Given the description of an element on the screen output the (x, y) to click on. 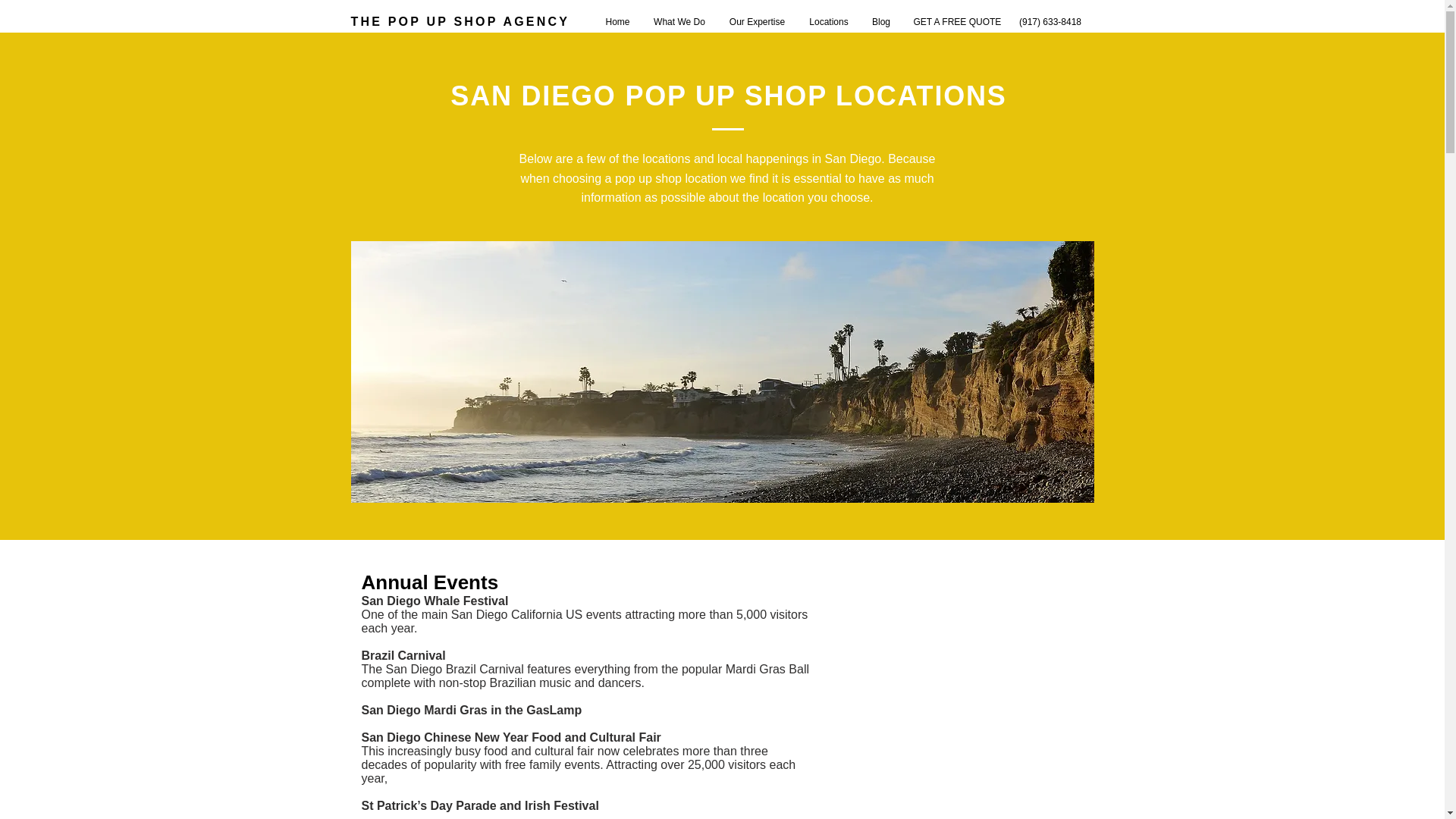
Our Expertise (757, 21)
What We Do (679, 21)
Home (617, 21)
Google Maps (975, 676)
